Given the description of an element on the screen output the (x, y) to click on. 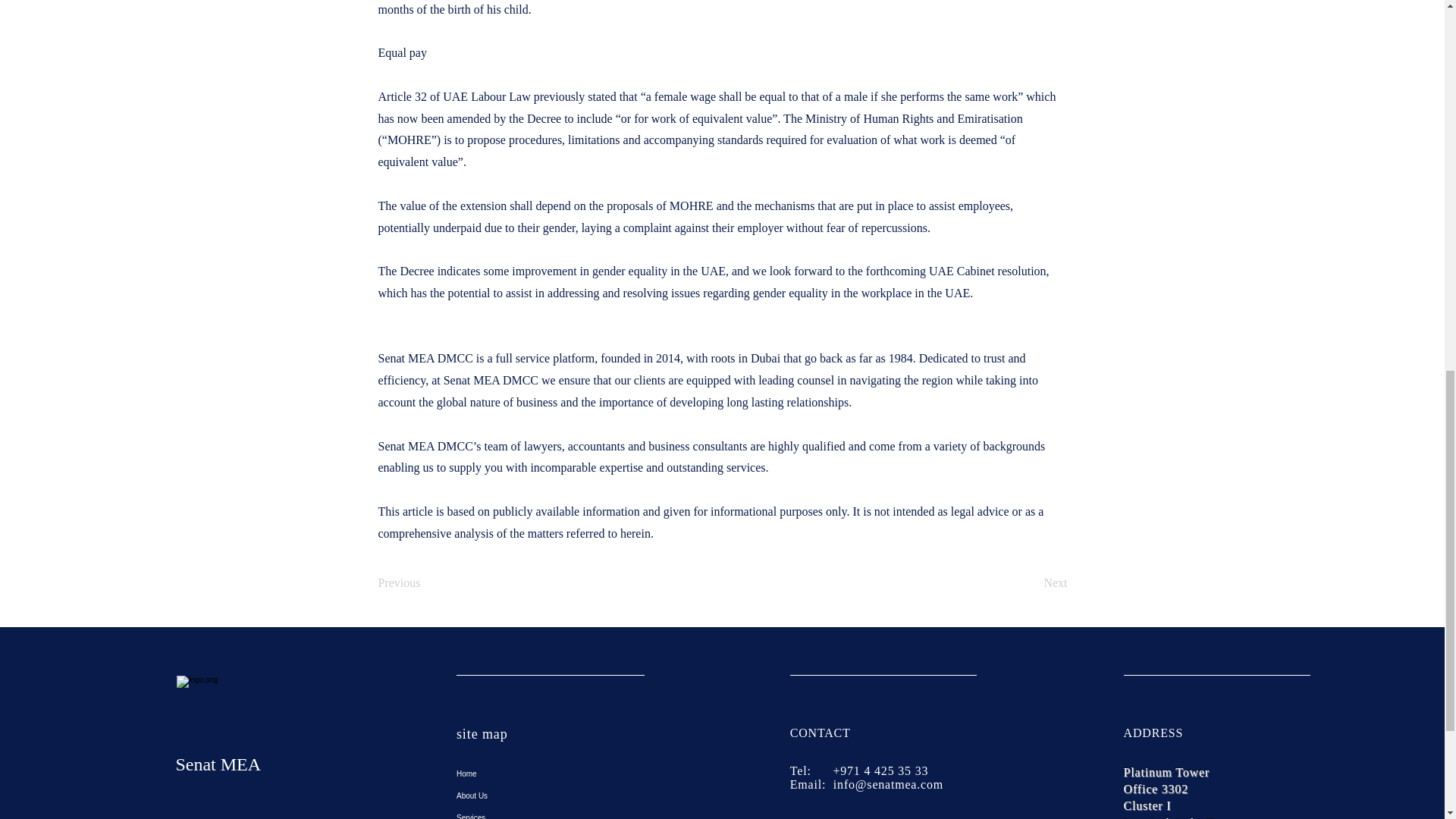
Previous (427, 583)
Next (1029, 583)
About Us (550, 795)
Services (550, 812)
Home (550, 773)
Senat MEA (217, 763)
